Given the description of an element on the screen output the (x, y) to click on. 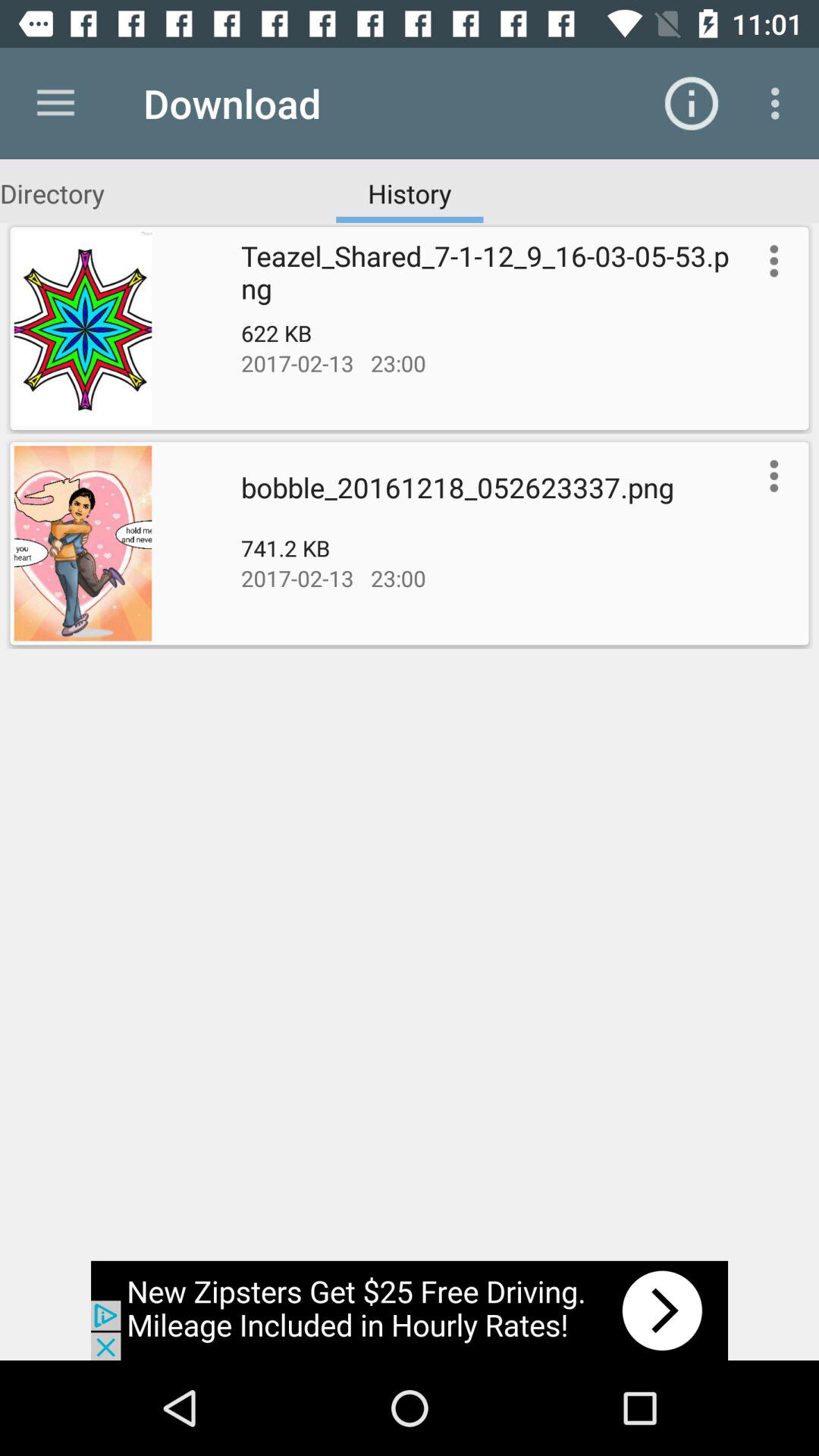
go to advertisement (409, 1310)
